Given the description of an element on the screen output the (x, y) to click on. 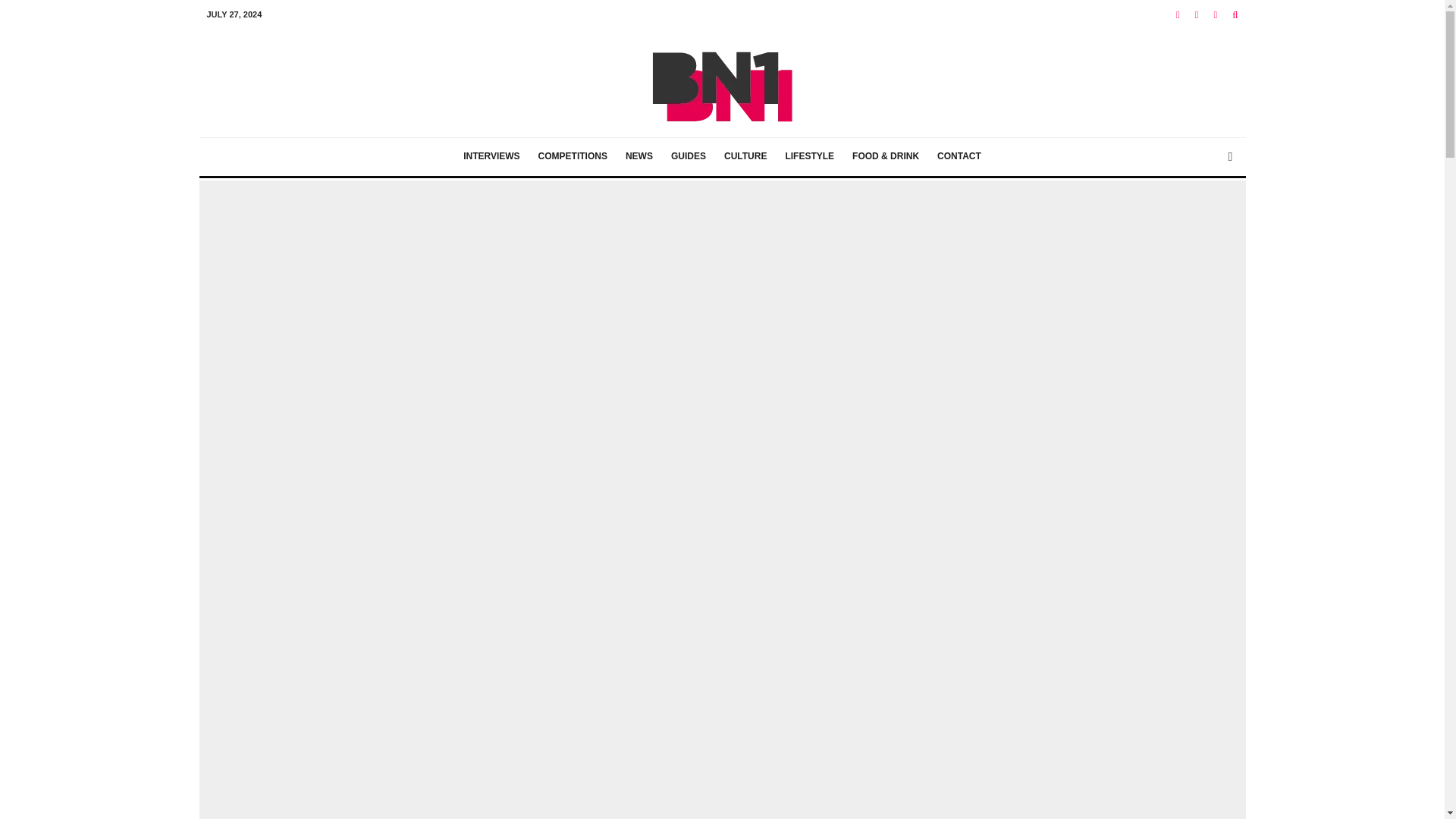
NEWS (638, 157)
COMPETITIONS (572, 157)
INTERVIEWS (491, 157)
GUIDES (688, 157)
